Given the description of an element on the screen output the (x, y) to click on. 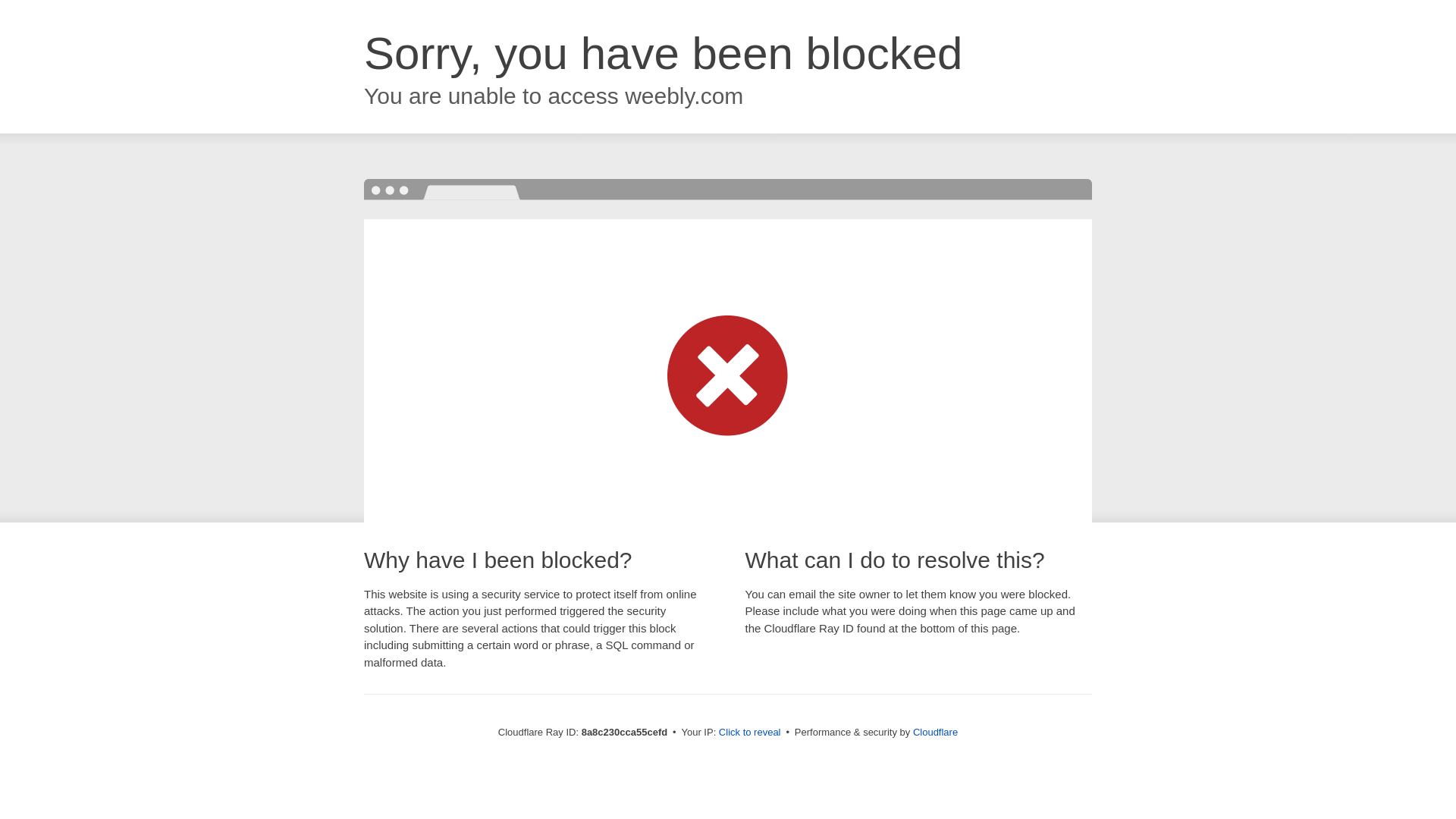
Cloudflare (935, 731)
Click to reveal (749, 732)
